Given the description of an element on the screen output the (x, y) to click on. 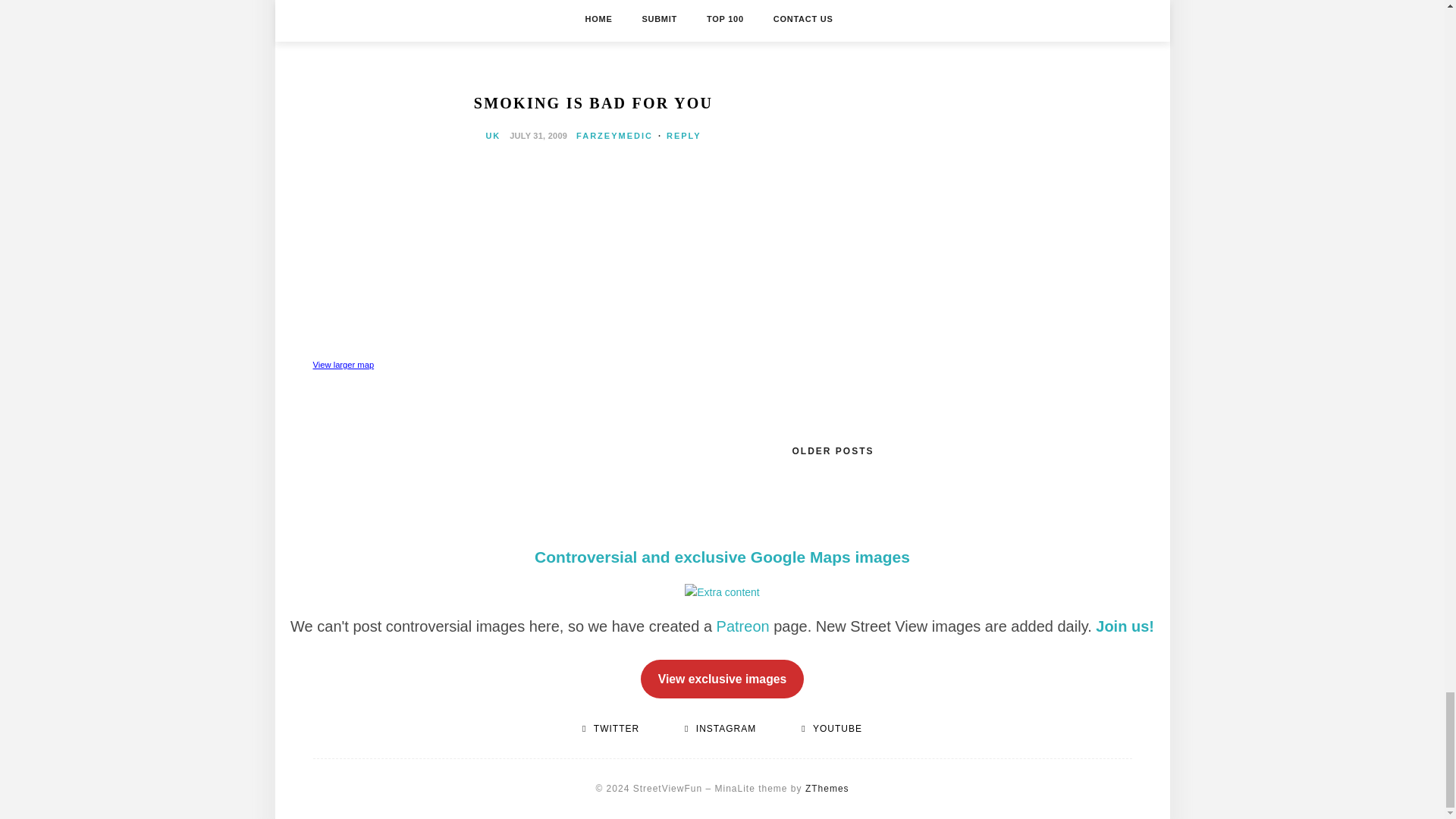
Posts by farzeymedic (614, 135)
